Given the description of an element on the screen output the (x, y) to click on. 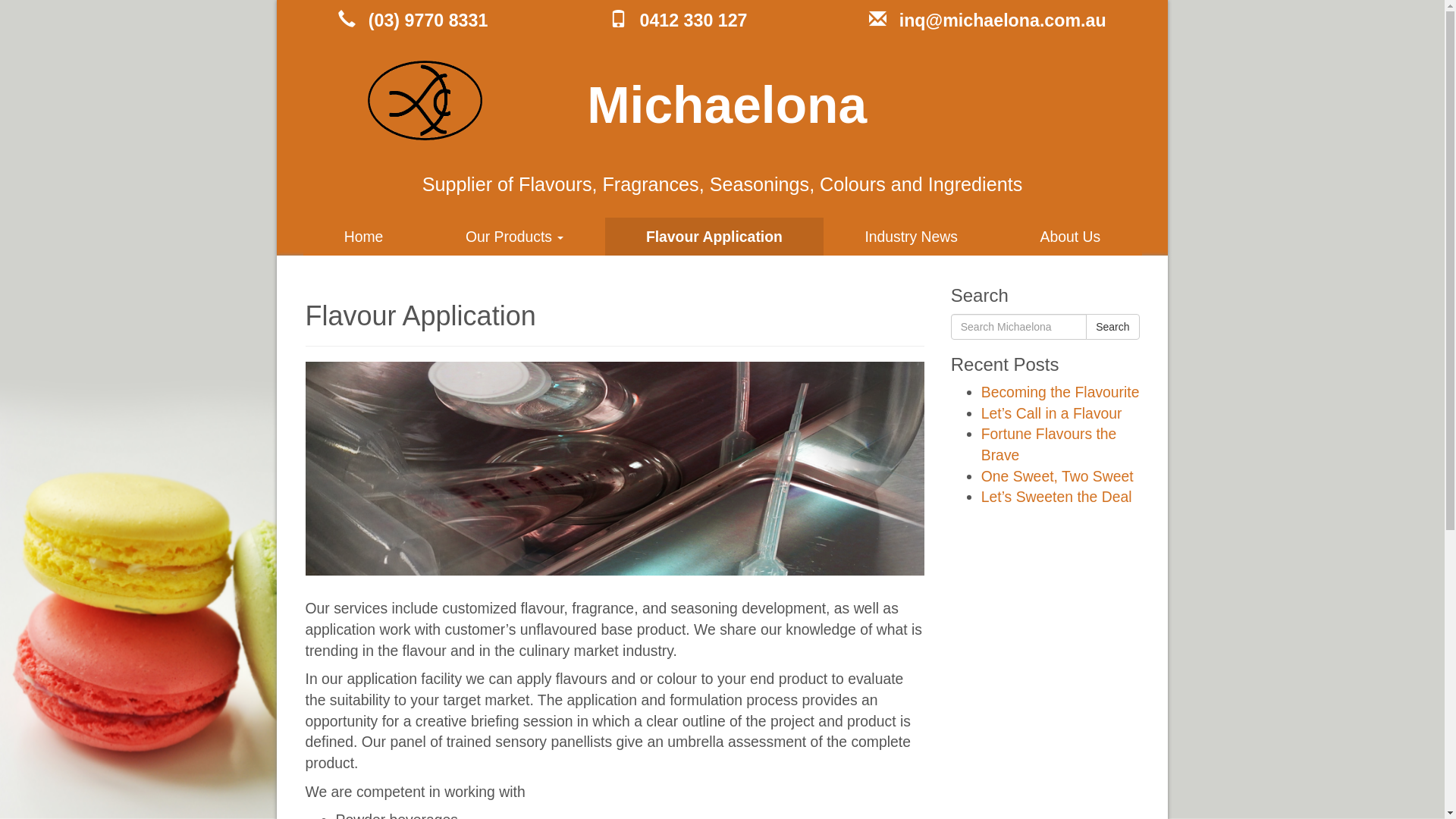
Becoming the Flavourite Element type: text (1060, 391)
0412 330 127 Element type: text (678, 20)
One Sweet, Two Sweet Element type: text (1057, 475)
Home Element type: text (363, 236)
Search Element type: text (1112, 326)
Our Products Element type: text (514, 236)
About Us Element type: text (1069, 236)
(03) 9770 8331 Element type: text (413, 20)
Fortune Flavours the Brave Element type: text (1049, 444)
Flavour Application Element type: text (714, 236)
inq@michaelona.com.au Element type: text (987, 20)
Industry News Element type: text (910, 236)
